Given the description of an element on the screen output the (x, y) to click on. 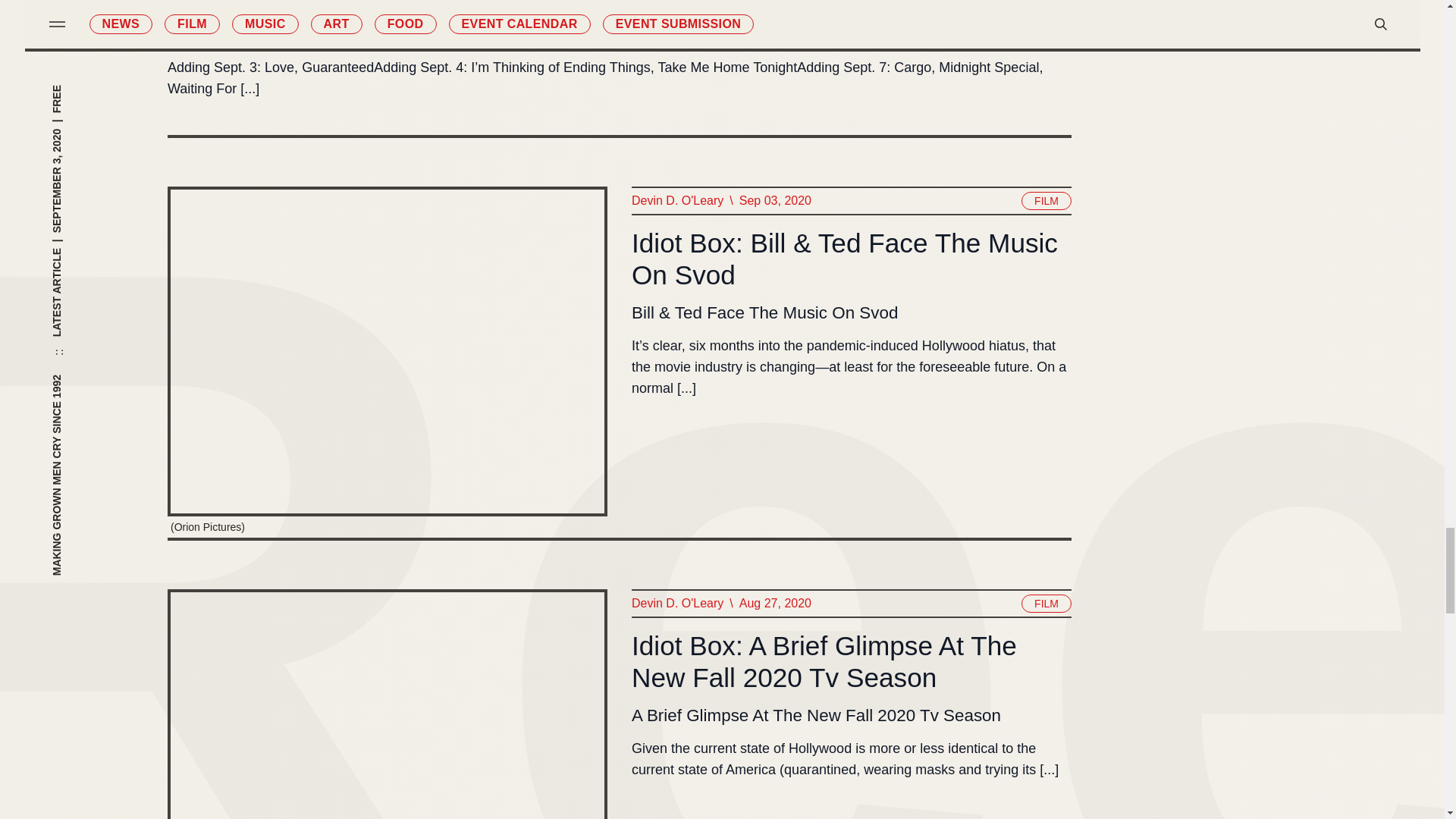
Devin D. O'Leary (676, 200)
Devin D. O'Leary (676, 603)
FILM (1046, 603)
FILM (1046, 200)
